Given the description of an element on the screen output the (x, y) to click on. 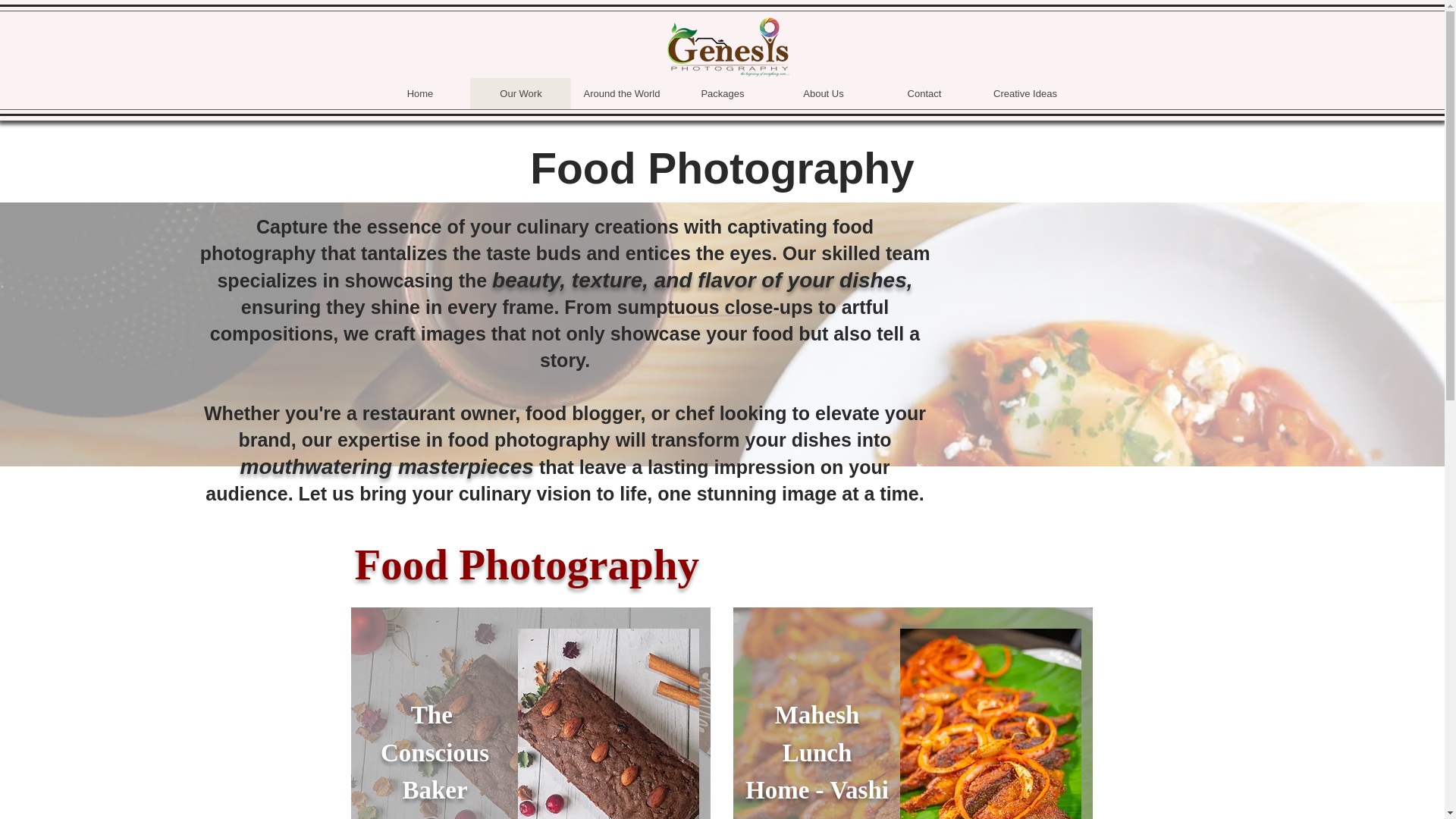
Home (419, 92)
Creative Ideas (1024, 92)
Contact (923, 92)
Our Work (520, 92)
About Us (823, 92)
Packages (722, 92)
Around the World (620, 92)
